Given the description of an element on the screen output the (x, y) to click on. 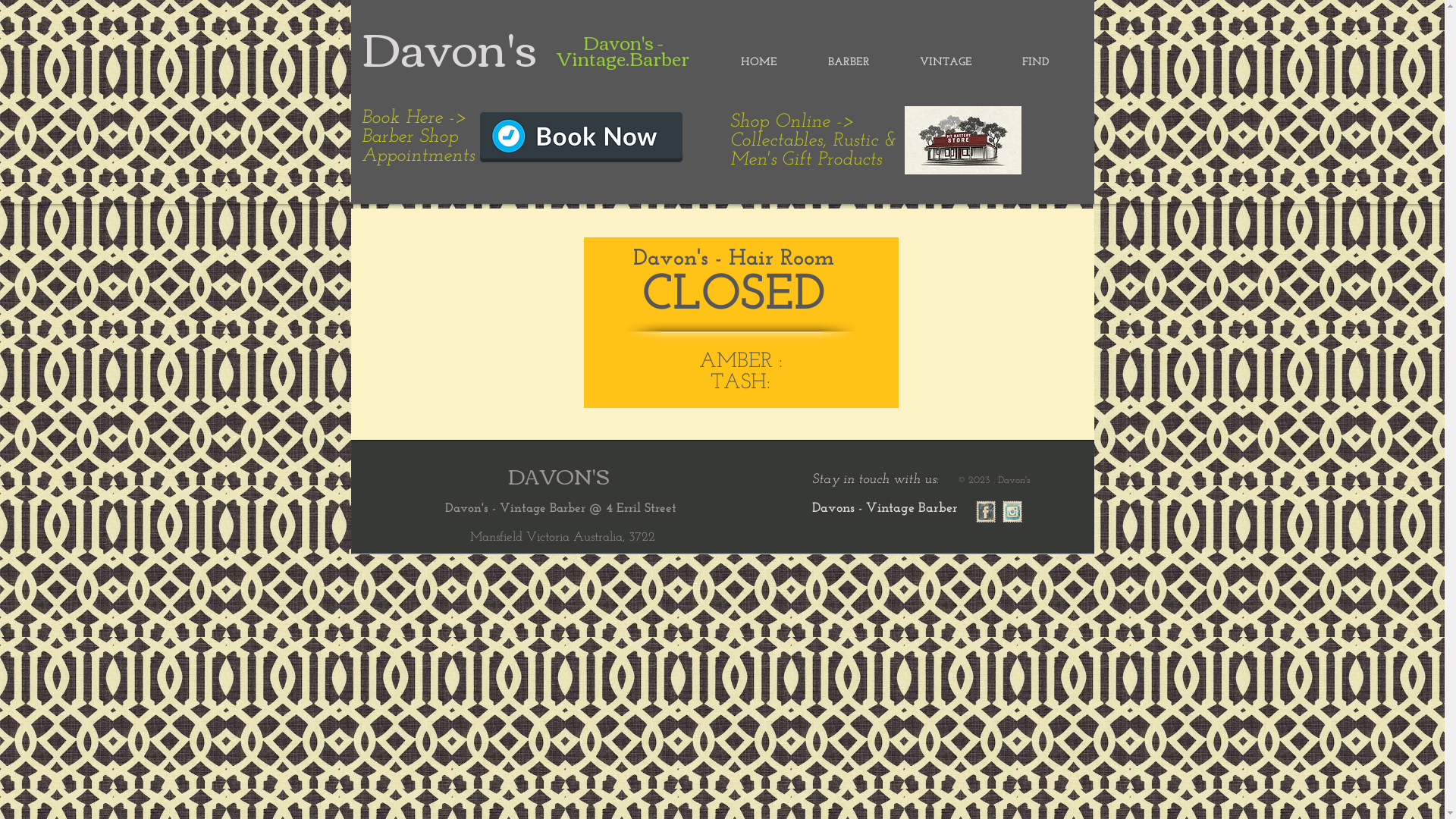
FIND Element type: text (1034, 62)
IMG_1934.JPG Element type: hover (961, 140)
VINTAGE Element type: text (945, 62)
BARBER Element type: text (848, 62)
HOME Element type: text (758, 62)
